Given the description of an element on the screen output the (x, y) to click on. 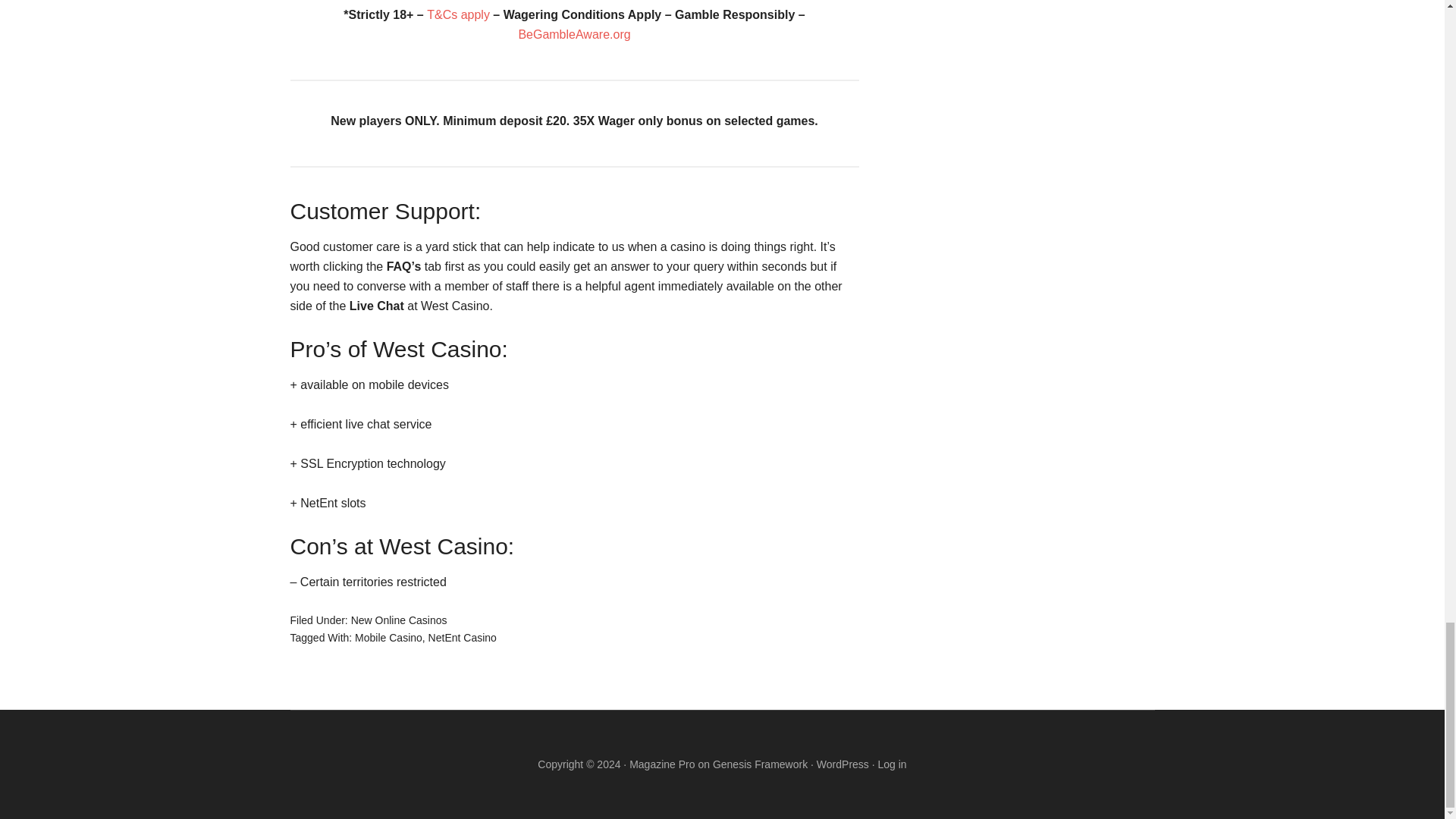
Genesis Framework (760, 764)
Magazine Pro (661, 764)
BeGambleAware.org (574, 33)
NetEnt Casino (462, 636)
Mobile Casino (388, 636)
Log in (892, 764)
WordPress (842, 764)
New Online Casinos (398, 620)
